Given the description of an element on the screen output the (x, y) to click on. 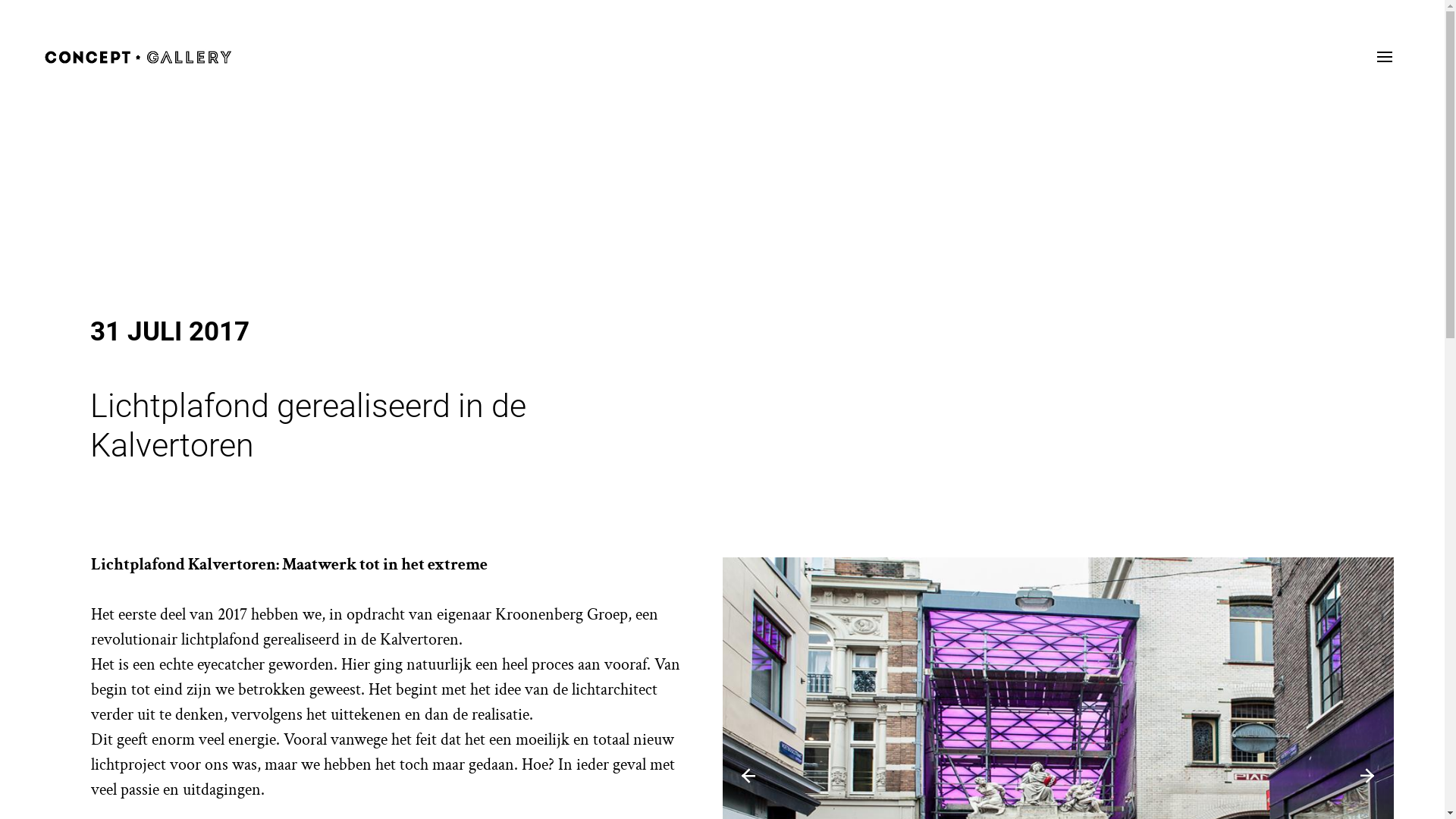
Home Element type: hover (138, 55)
Overslaan en naar de inhoud gaan Element type: text (0, 0)
